Given the description of an element on the screen output the (x, y) to click on. 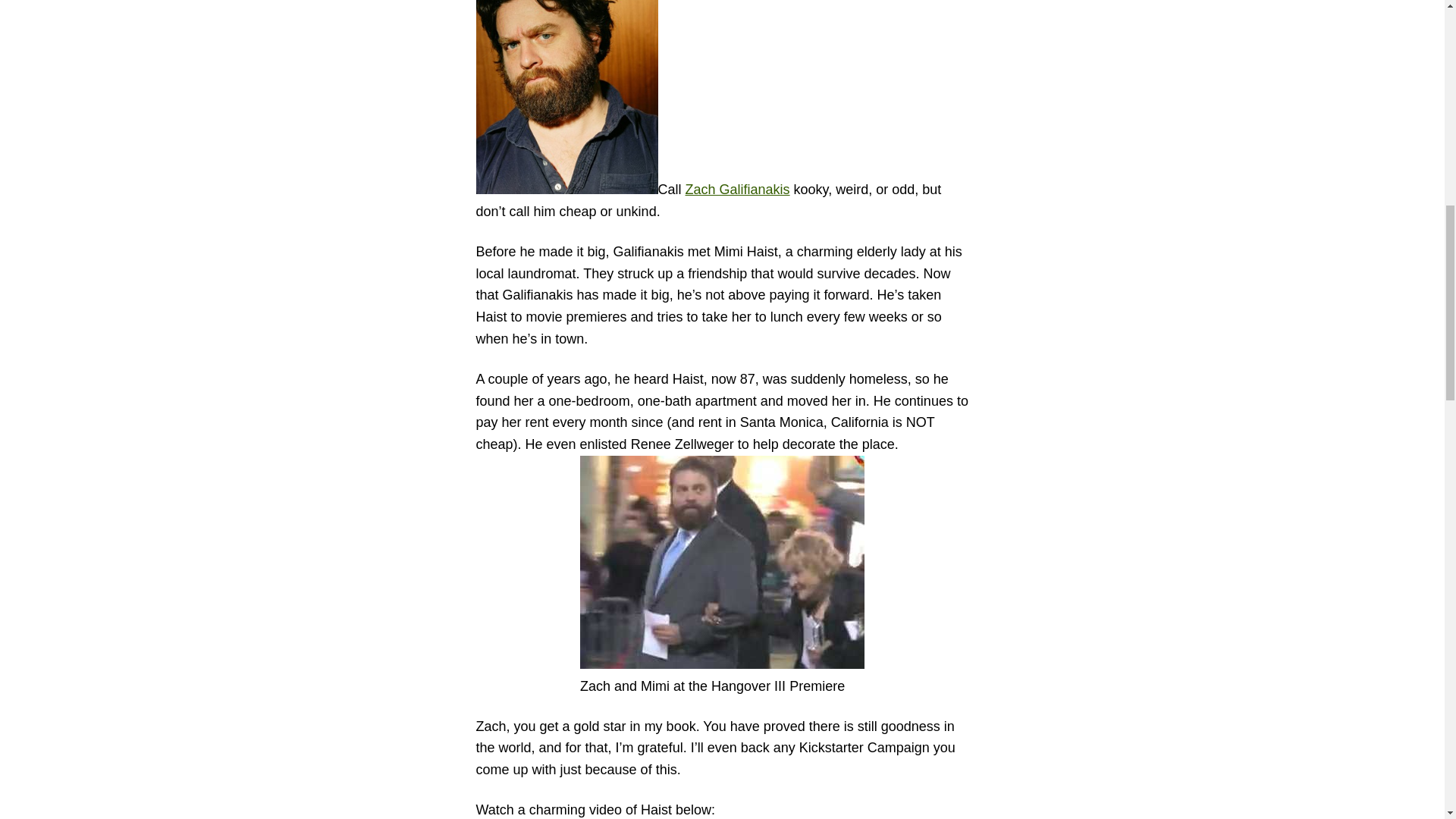
Zach Galifianakis (737, 189)
Zach Galifianakis (737, 189)
